Given the description of an element on the screen output the (x, y) to click on. 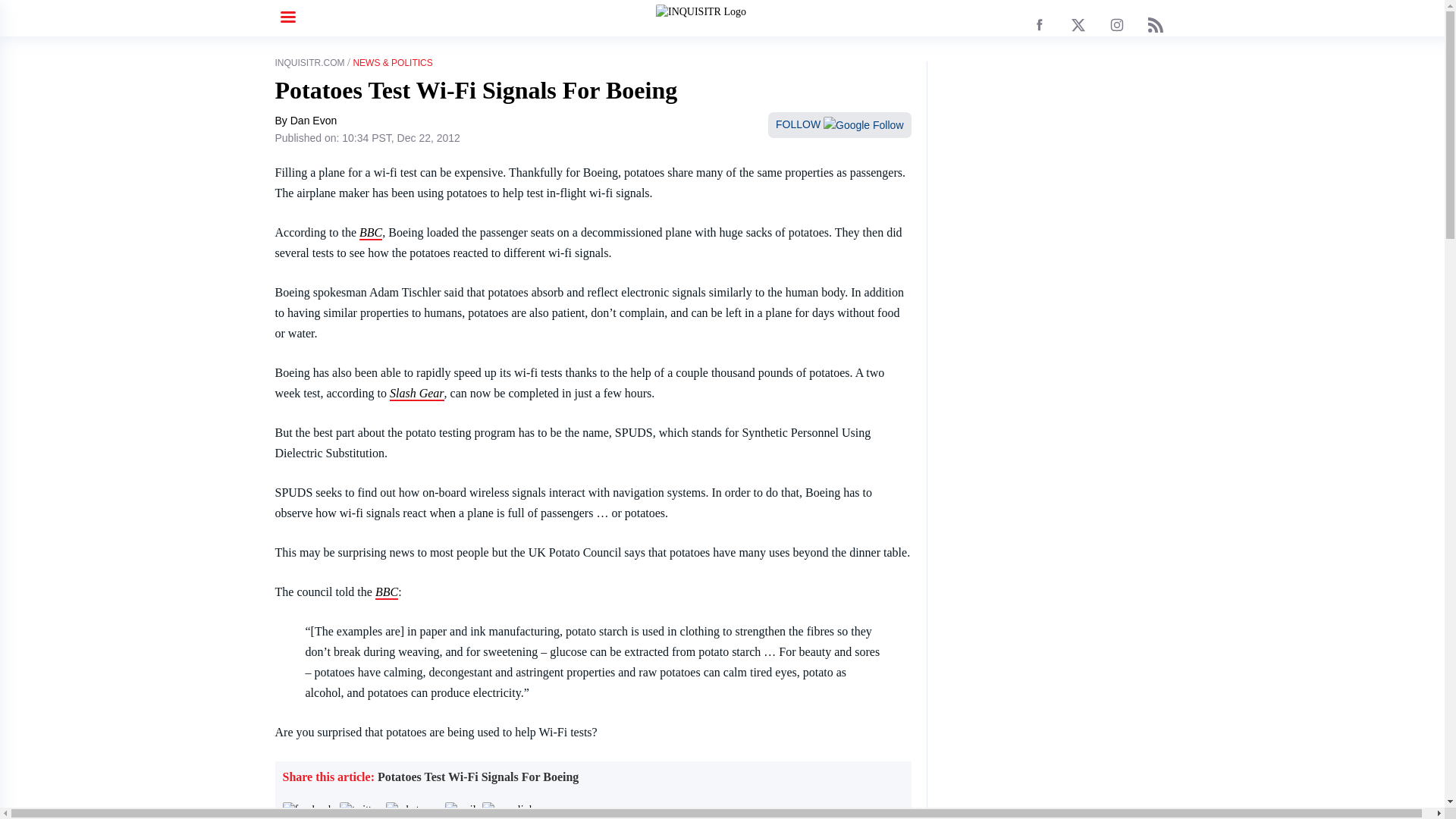
bbc (386, 592)
slash gear (417, 393)
INQUISITR.COM (309, 62)
bbc (370, 233)
